Given the description of an element on the screen output the (x, y) to click on. 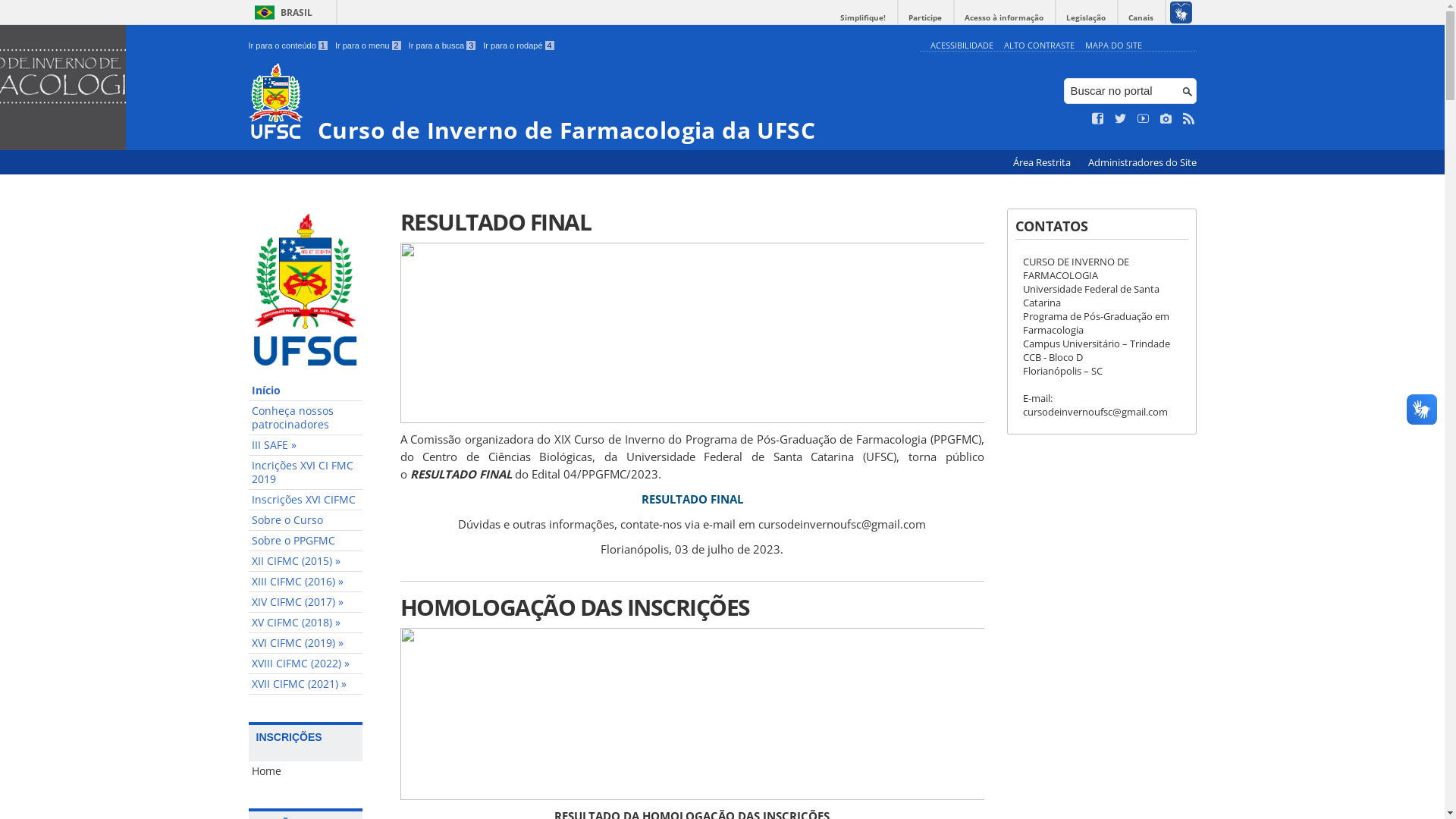
Canais Element type: text (1140, 18)
Siga no Twitter Element type: hover (1120, 118)
Ir para o menu 2 Element type: text (368, 45)
Curso de Inverno de Farmacologia da UFSC Element type: text (580, 102)
Simplifique! Element type: text (862, 18)
Ir para a busca 3 Element type: text (442, 45)
RESULTADO FINAL Element type: text (692, 498)
MAPA DO SITE Element type: text (1112, 44)
Participe Element type: text (924, 18)
Sobre o Curso Element type: text (305, 520)
CI FMC Element type: hover (62, 87)
Curta no Facebook Element type: hover (1098, 118)
ALTO CONTRASTE Element type: text (1039, 44)
Sobre o PPGFMC Element type: text (305, 540)
RESULTADO FINAL Element type: text (692, 221)
ACESSIBILIDADE Element type: text (960, 44)
Home Element type: text (305, 771)
Administradores do Site Element type: text (1141, 162)
Veja no Instagram Element type: hover (1166, 118)
BRASIL Element type: text (280, 12)
